Given the description of an element on the screen output the (x, y) to click on. 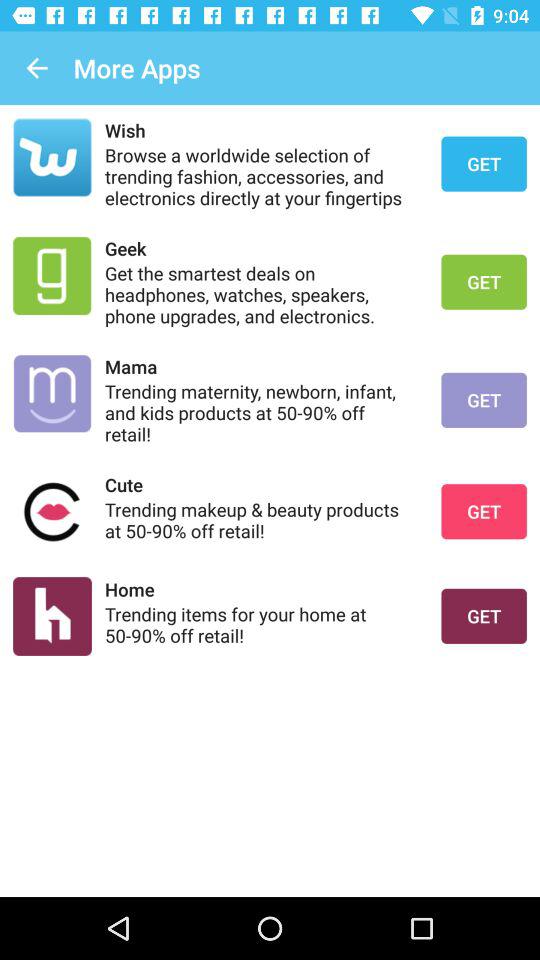
choose get the smartest item (260, 294)
